Given the description of an element on the screen output the (x, y) to click on. 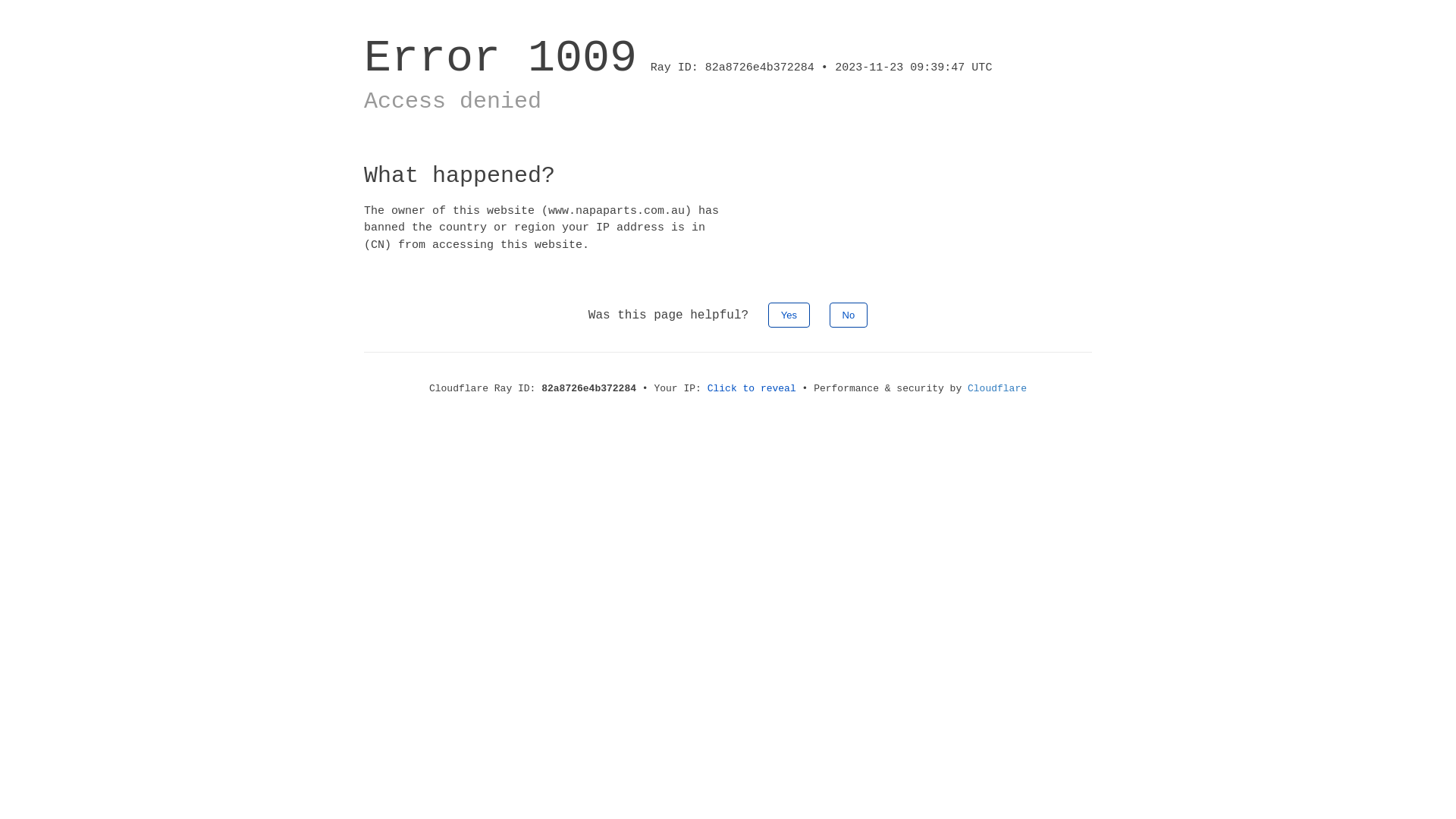
Cloudflare Element type: text (996, 388)
Yes Element type: text (788, 314)
No Element type: text (848, 314)
Click to reveal Element type: text (751, 388)
